Given the description of an element on the screen output the (x, y) to click on. 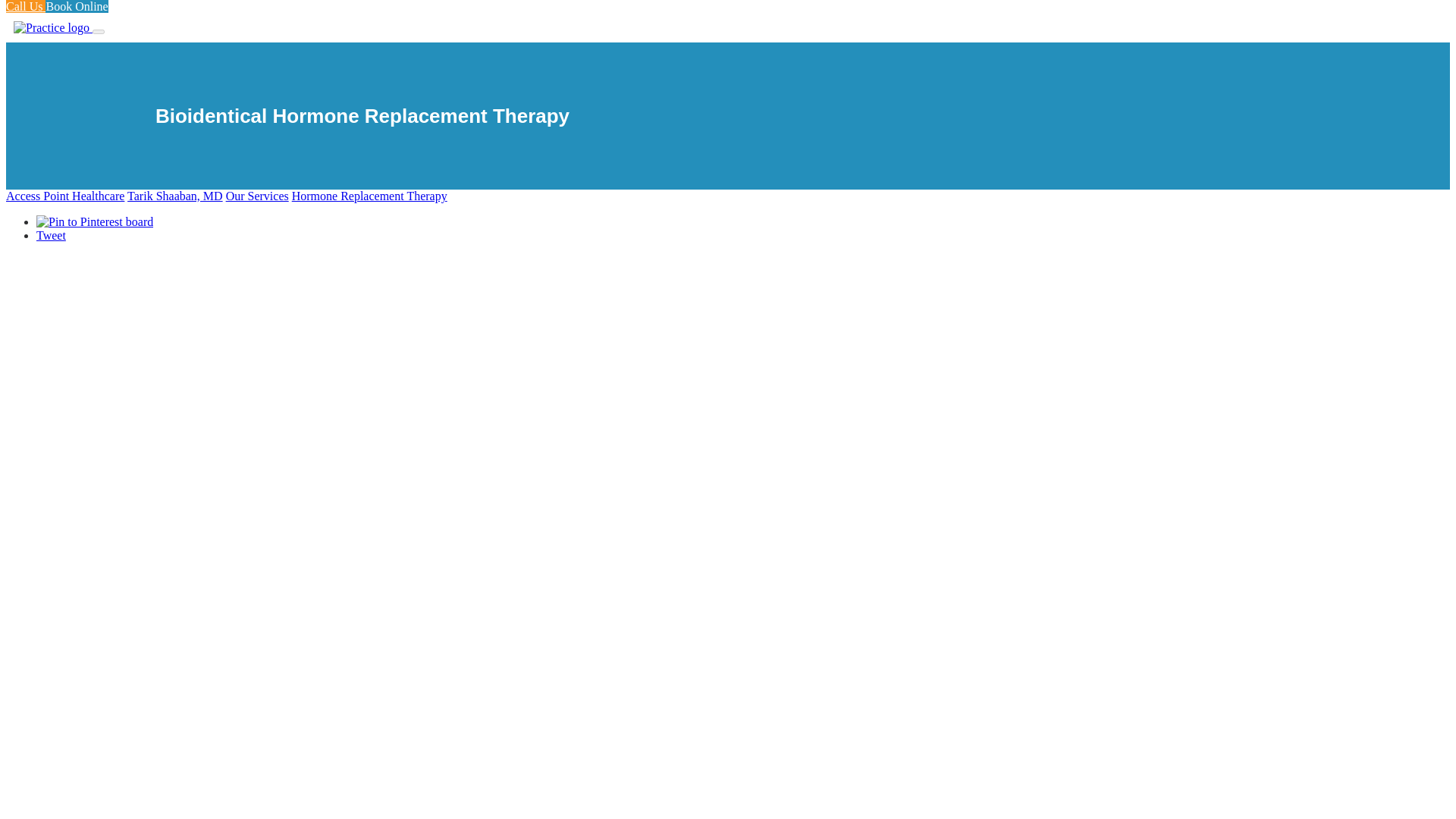
Call Us (25, 6)
Hormone Replacement Therapy (369, 195)
Tarik Shaaban, MD (175, 195)
Book Online (76, 6)
Our Services (256, 195)
Tweet (50, 235)
Access Point Healthcare (64, 195)
